Given the description of an element on the screen output the (x, y) to click on. 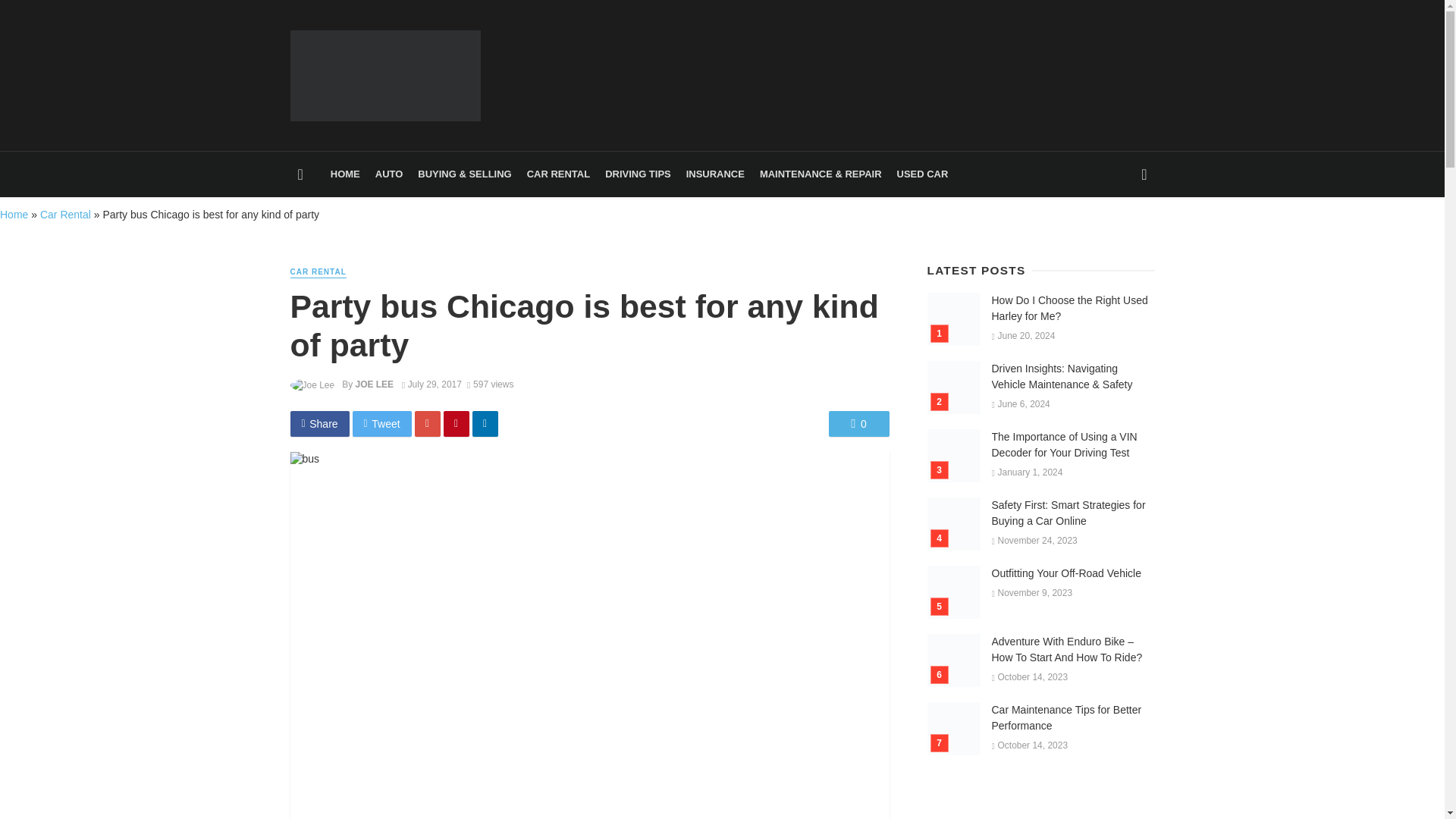
Tweet (382, 423)
Car Rental (65, 214)
DRIVING TIPS (637, 174)
0 Comments (858, 423)
Share on Pinterest (456, 423)
Posts by Joe Lee (374, 384)
AUTO (389, 174)
USED CAR (922, 174)
CAR RENTAL (317, 272)
HOME (345, 174)
CAR RENTAL (557, 174)
JOE LEE (374, 384)
Share (319, 423)
Share on Linkedin (484, 423)
